Given the description of an element on the screen output the (x, y) to click on. 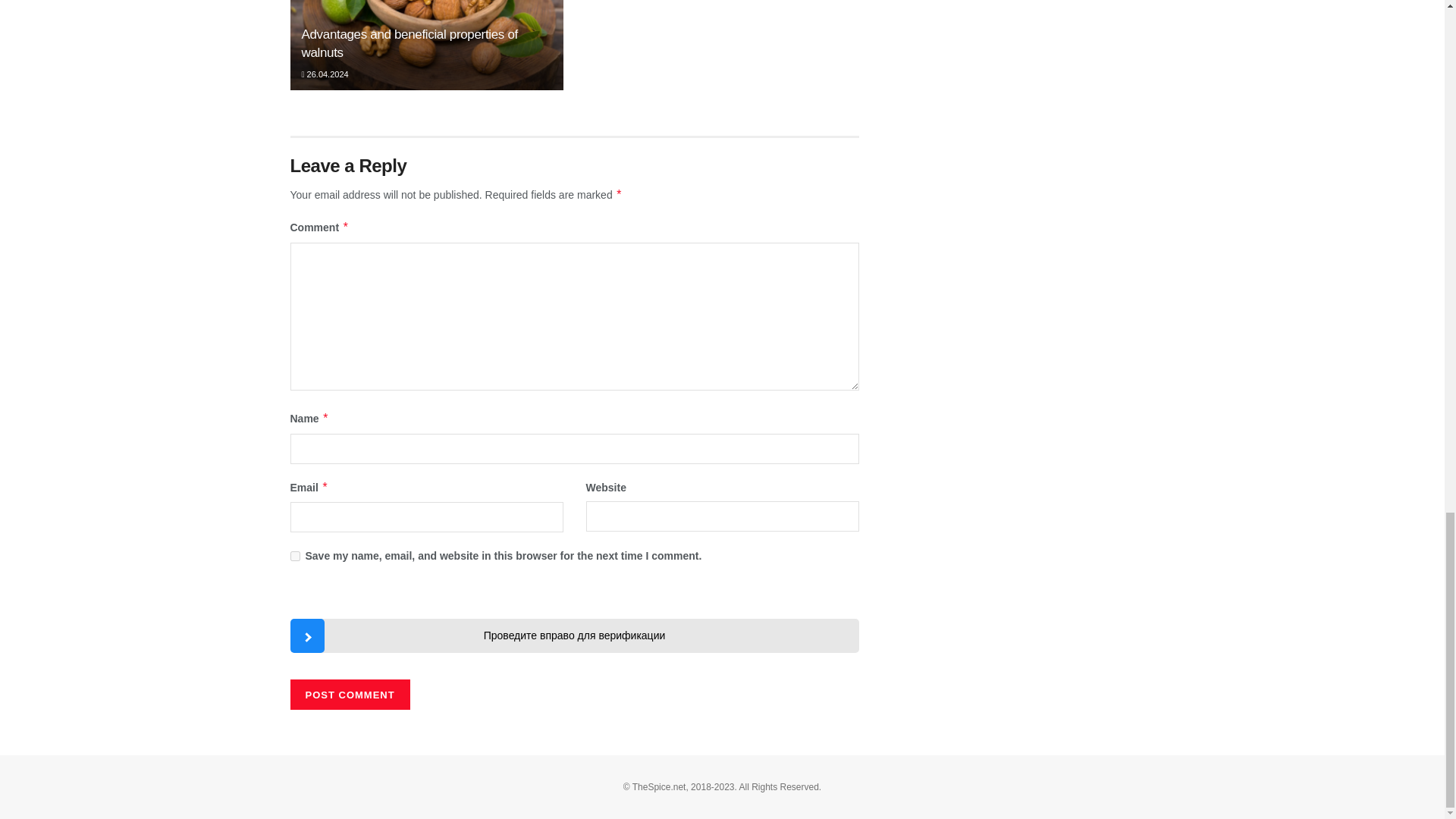
Post Comment (349, 694)
yes (294, 556)
